Given the description of an element on the screen output the (x, y) to click on. 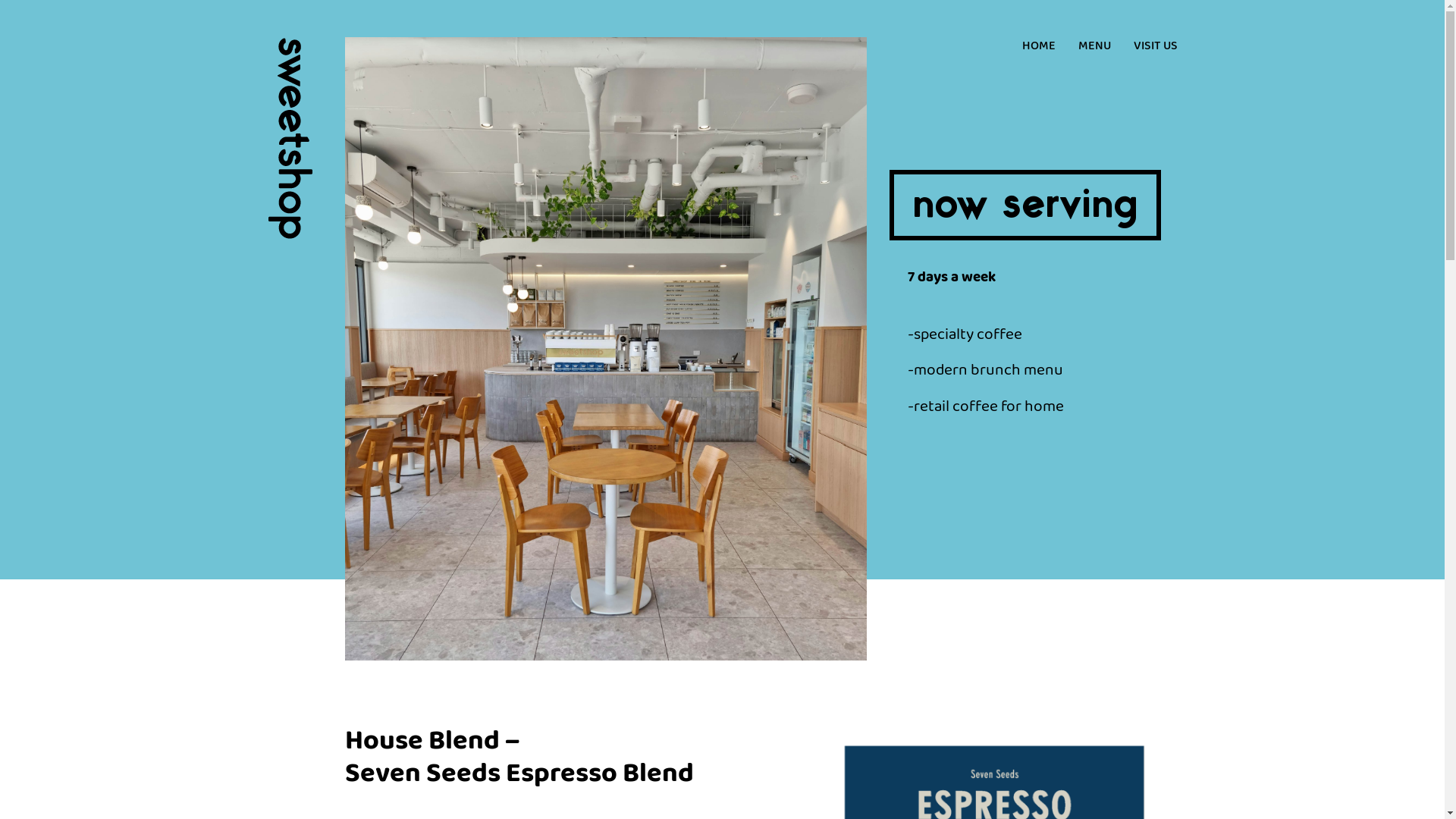
HOME Element type: text (1038, 46)
VISIT US Element type: text (1154, 46)
MENU Element type: text (1094, 46)
